Given the description of an element on the screen output the (x, y) to click on. 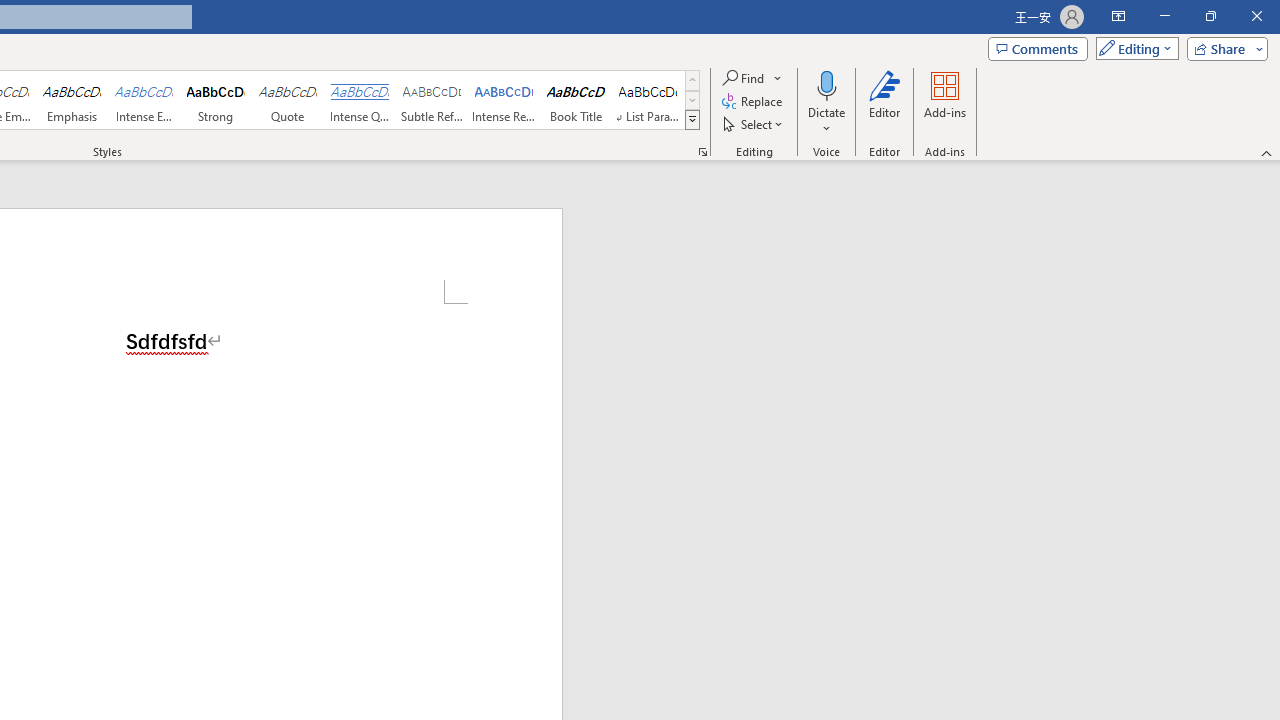
Emphasis (71, 100)
Intense Emphasis (143, 100)
Restore Down (1210, 16)
Row Down (692, 100)
Collapse the Ribbon (1267, 152)
Dictate (826, 102)
Editor (885, 102)
Comments (1038, 48)
Ribbon Display Options (1118, 16)
Find (753, 78)
Class: NetUIImage (692, 119)
Book Title (575, 100)
Styles... (702, 151)
Dictate (826, 84)
